Given the description of an element on the screen output the (x, y) to click on. 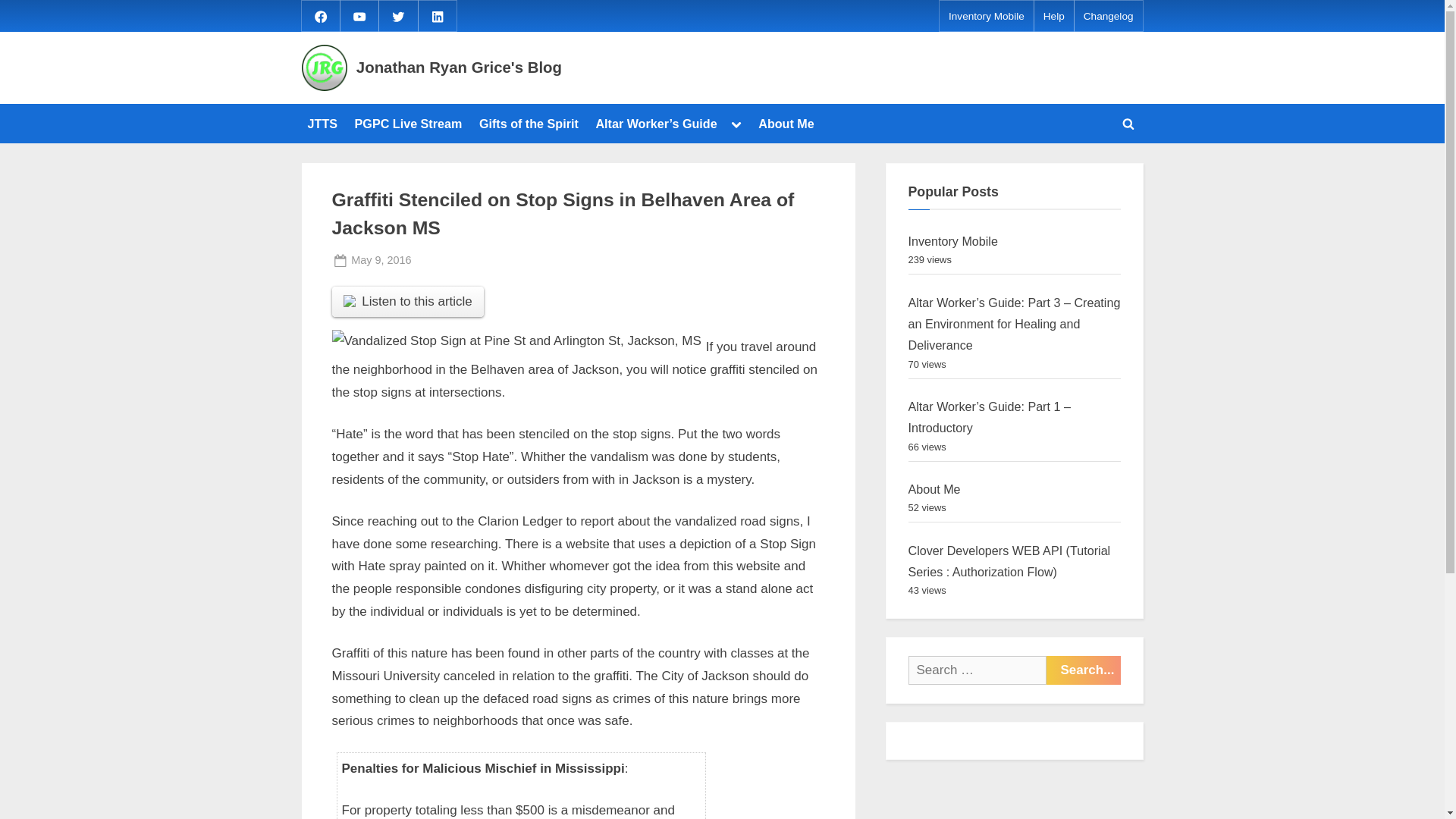
Search... (1083, 670)
Jonathan Ryan Grice's Blog (459, 67)
Twitter (397, 15)
Toggle sub-menu (736, 123)
JTTS (322, 123)
Help (1053, 16)
Search... (1083, 670)
About Me (934, 489)
About Me (786, 123)
